Given the description of an element on the screen output the (x, y) to click on. 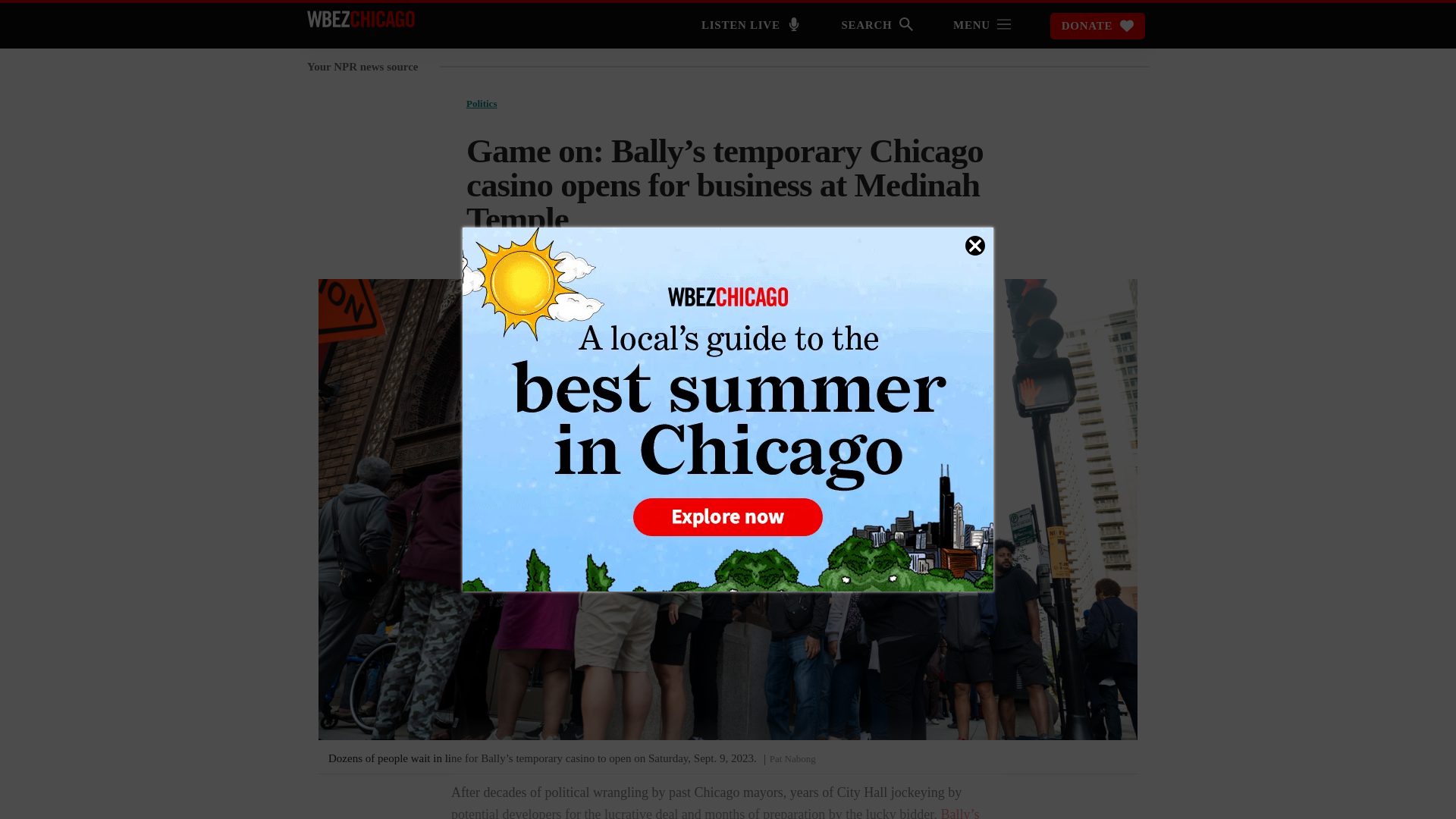
Close (975, 245)
SEARCH (876, 27)
